Given the description of an element on the screen output the (x, y) to click on. 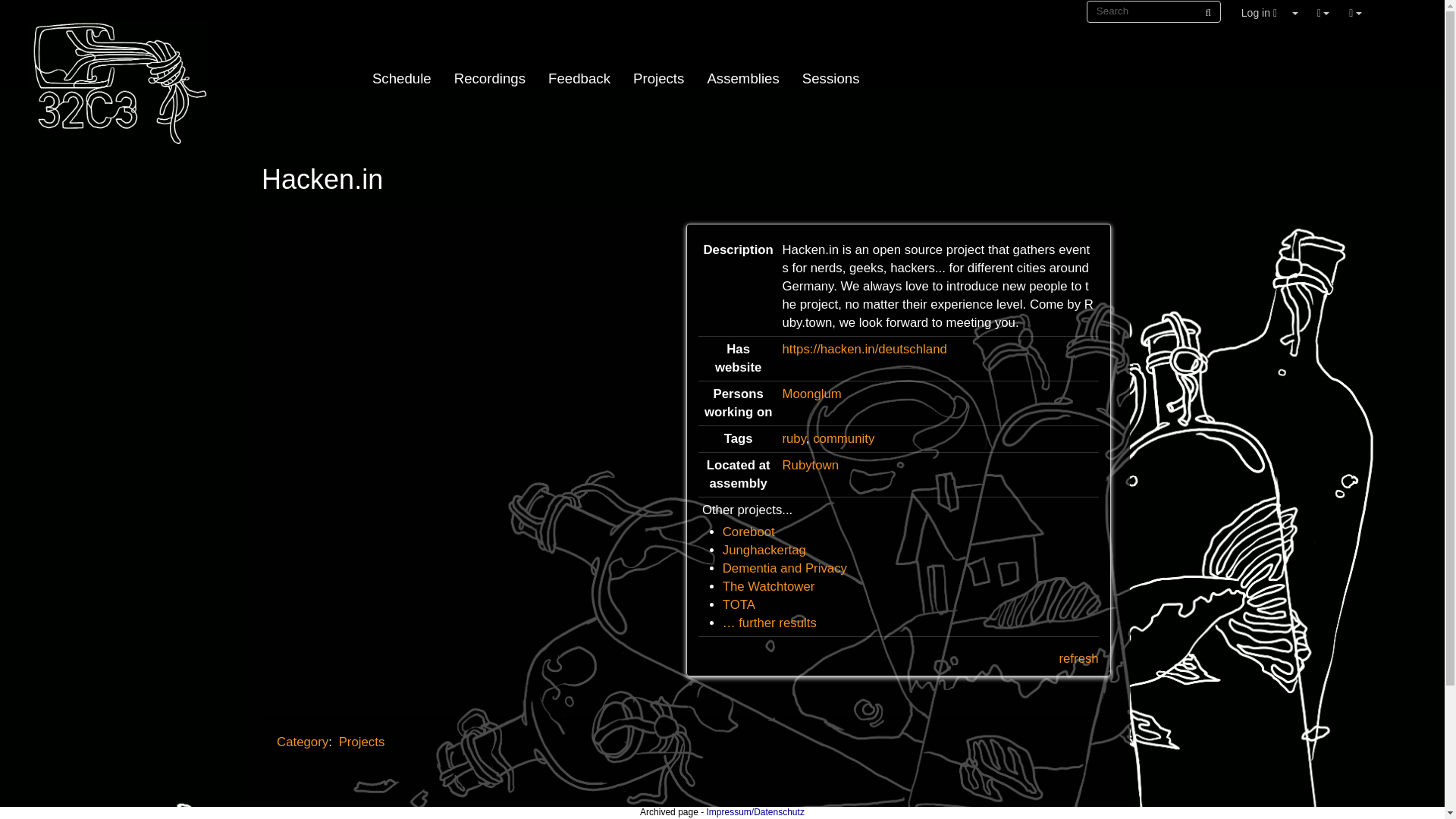
Assembly:Rubytown (809, 464)
Static:Self-organized Sessions (830, 77)
refresh (1077, 658)
The Watchtower (768, 586)
Category (302, 741)
Static:Assemblies (742, 77)
Rubytown (809, 464)
Log in (1259, 12)
community (843, 438)
Junghackertag (764, 549)
